Given the description of an element on the screen output the (x, y) to click on. 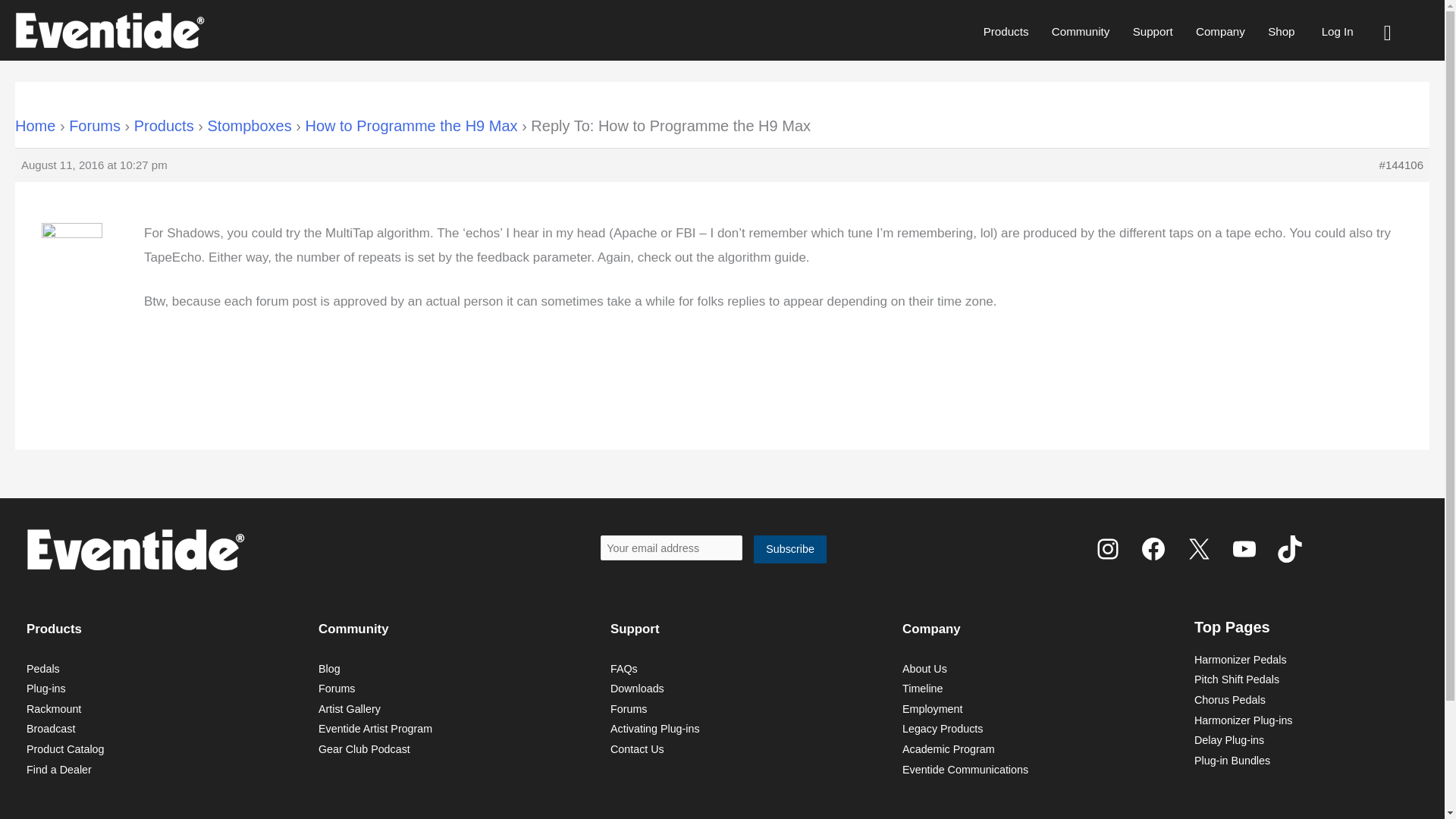
Support (1152, 31)
Shop (1281, 31)
Subscribe (790, 549)
Company (1220, 31)
Community (1081, 31)
Log In (1337, 31)
Products (1006, 31)
